Given the description of an element on the screen output the (x, y) to click on. 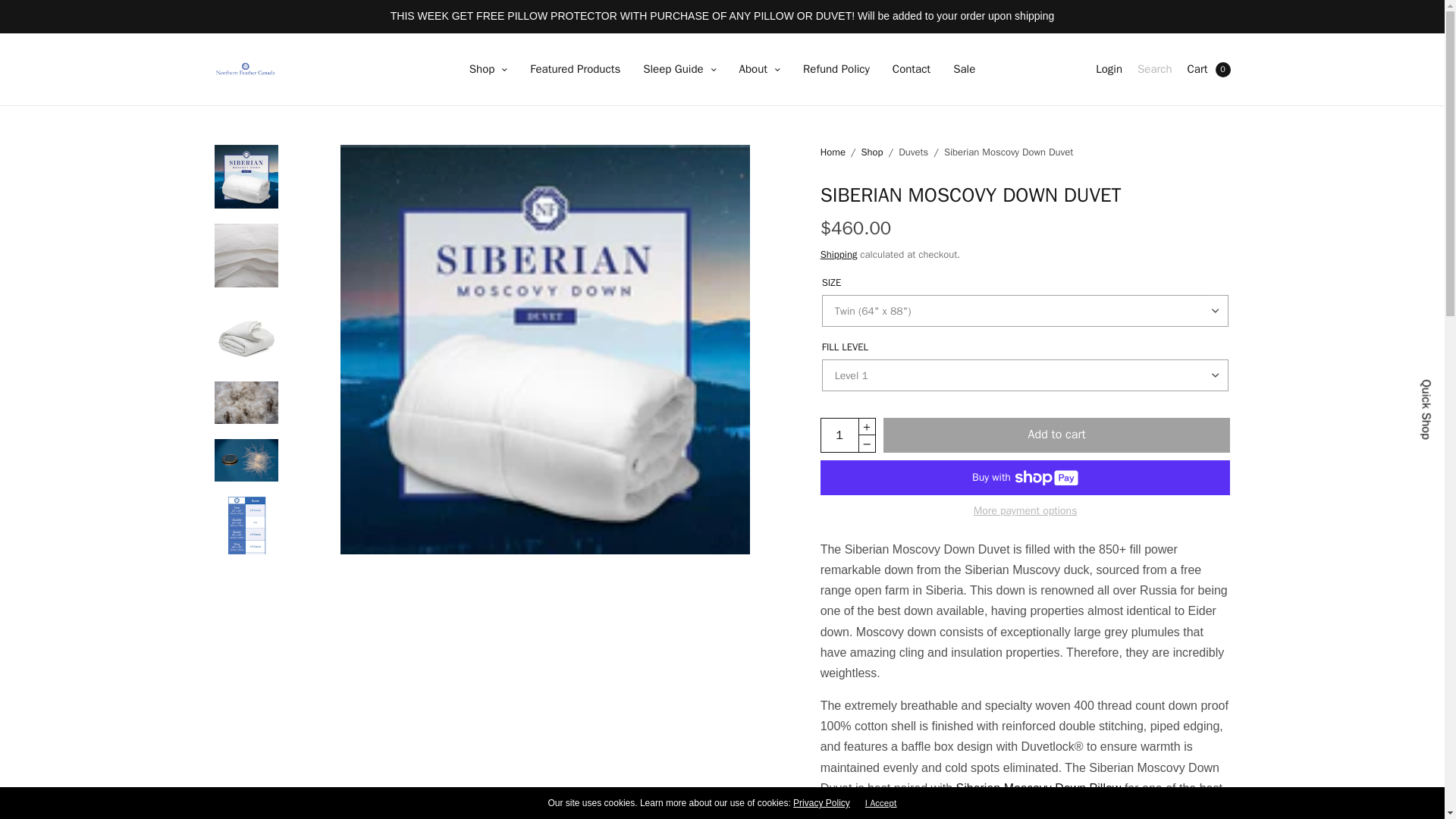
Sleep Guide (679, 69)
1 (840, 434)
Featured Products (574, 69)
Shop (488, 69)
Shop (488, 69)
